Given the description of an element on the screen output the (x, y) to click on. 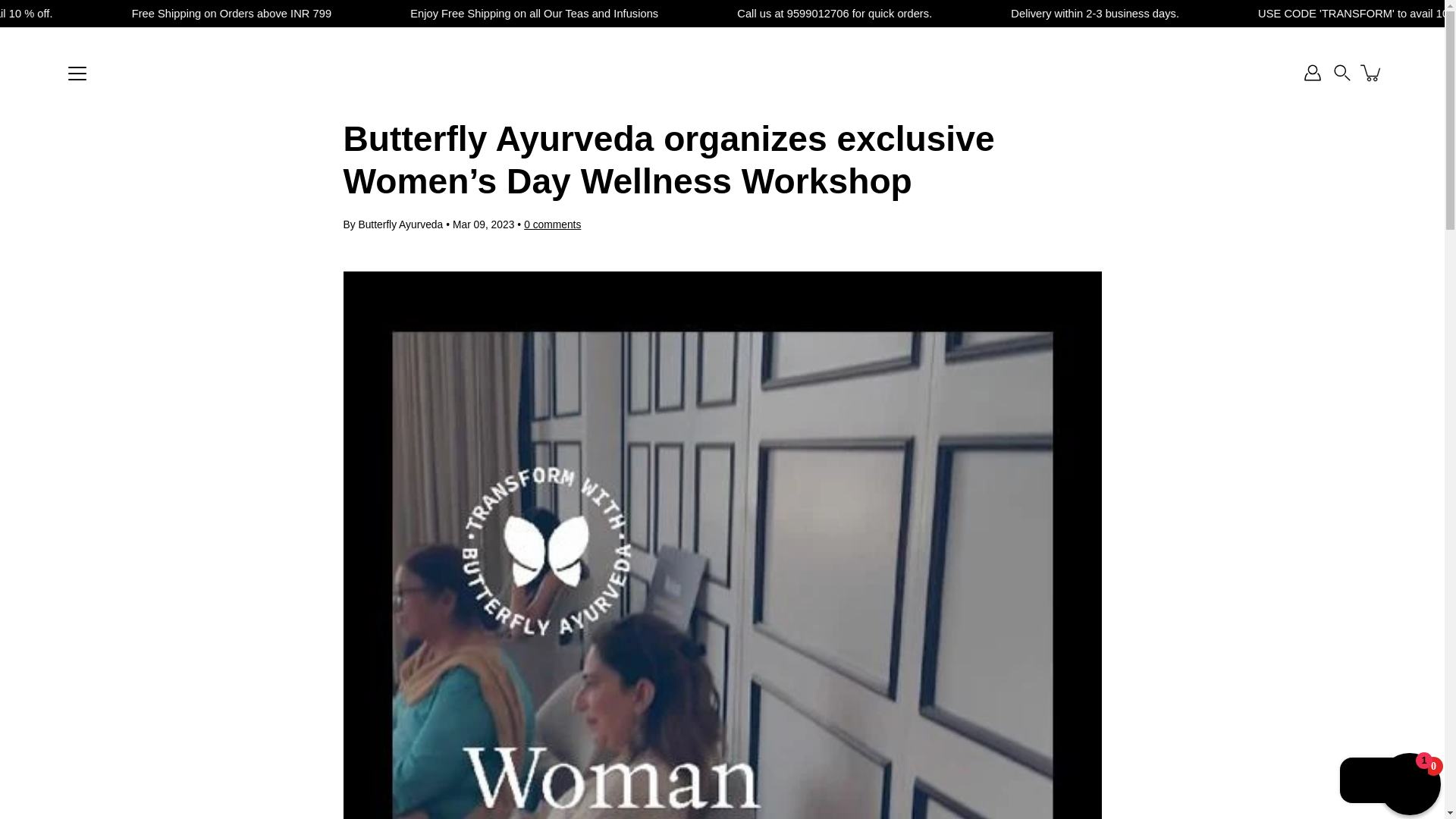
Search (1342, 72)
